Given the description of an element on the screen output the (x, y) to click on. 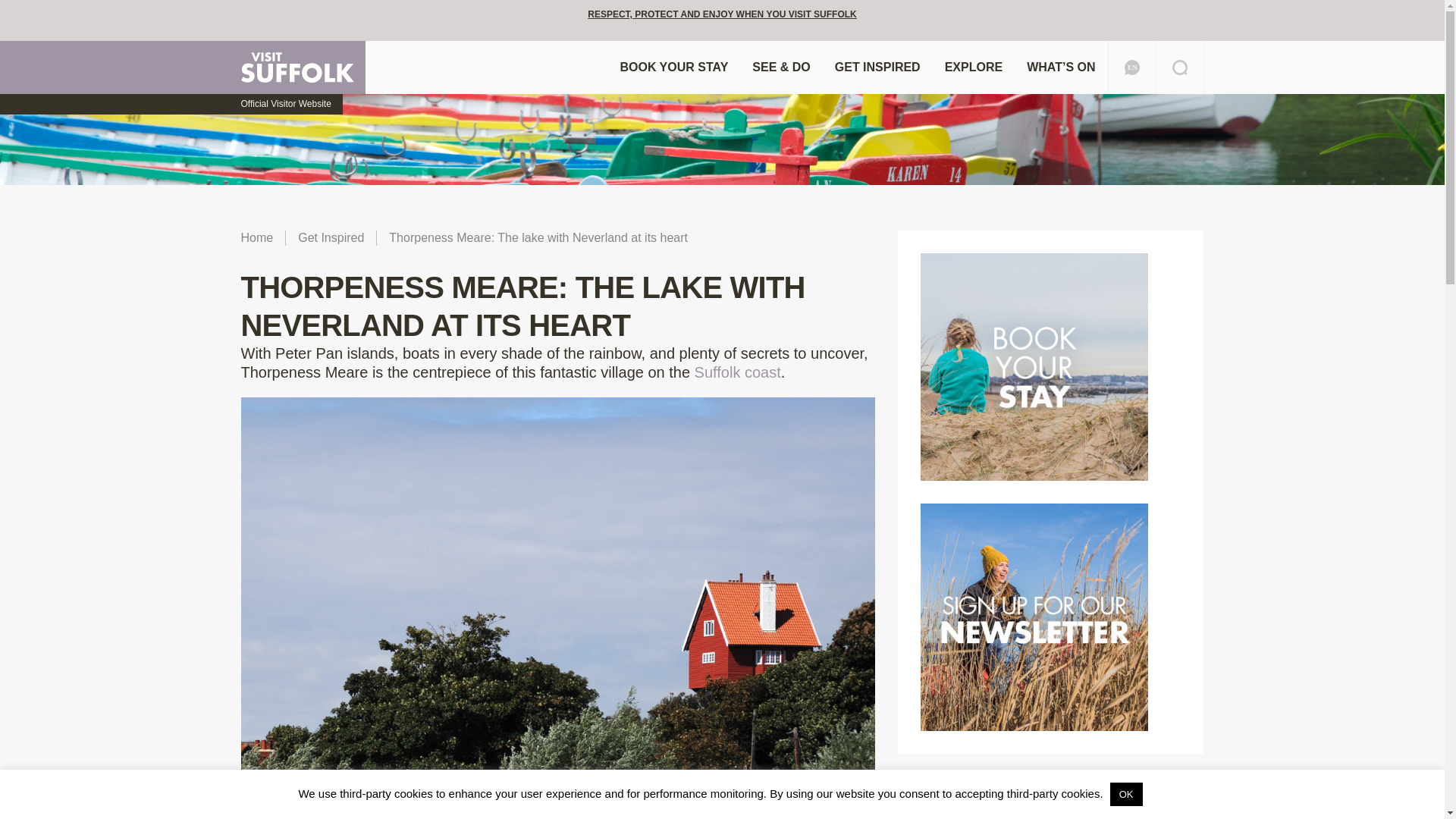
Thorpeness Meare: The lake with Neverland at its heart (538, 237)
GET INSPIRED (877, 67)
VISIT SUFFOLK (303, 67)
Get Inspired (330, 237)
BOOK YOUR STAY (673, 67)
TOGGLE SEARCH (1180, 67)
Suffolk coast (737, 371)
Home (256, 237)
TOGGLE TRANSLATE (1130, 67)
EXPLORE (973, 67)
RESPECT, PROTECT AND ENJOY WHEN YOU VISIT SUFFOLK (722, 14)
